Given the description of an element on the screen output the (x, y) to click on. 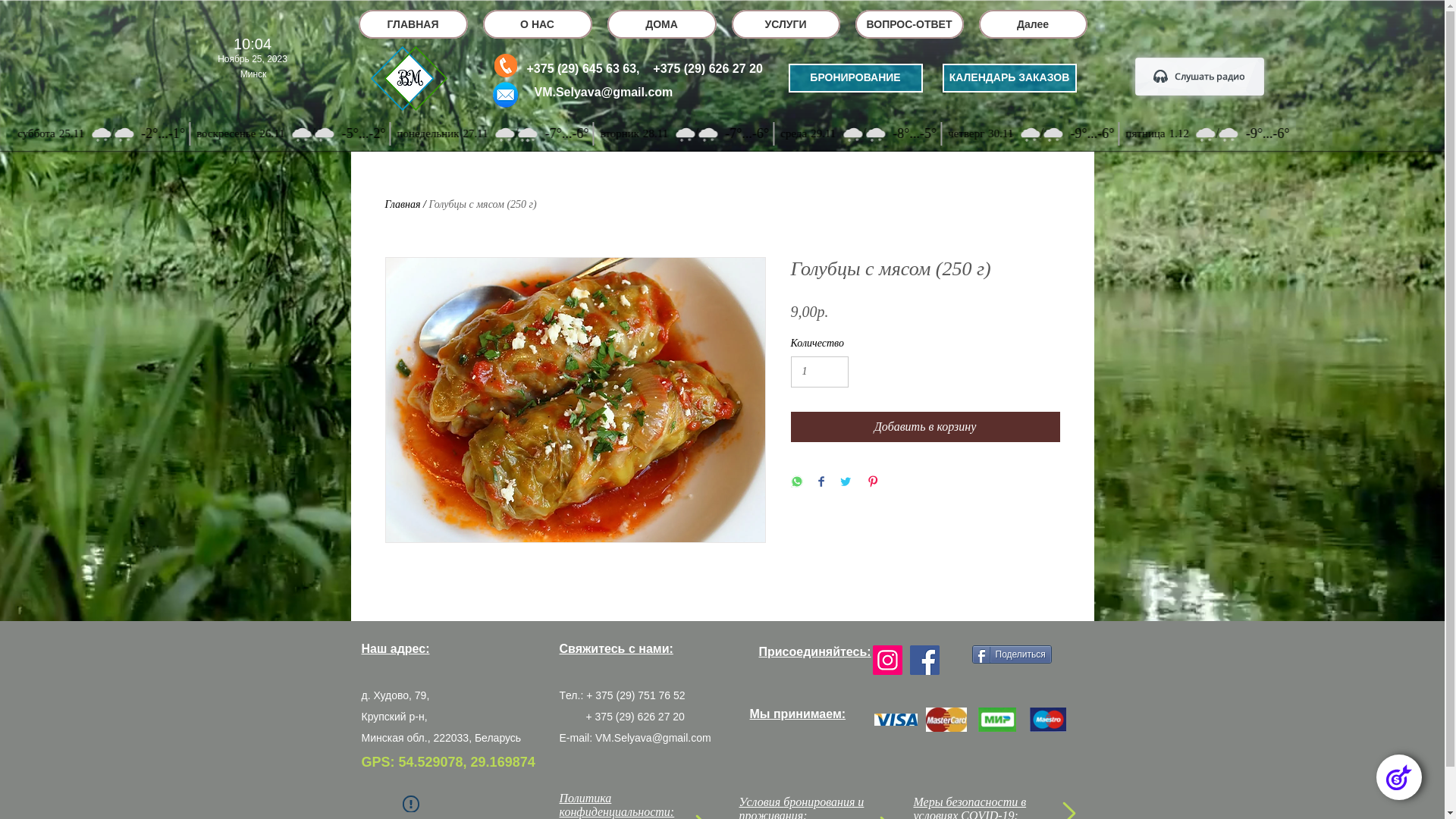
Embedded Content Element type: hover (1200, 77)
Embedded Content Element type: hover (722, 253)
VM.Selyava@gmail.com Element type: text (653, 737)
VM.Selyava@gmail.com Element type: text (602, 91)
Embedded Content Element type: hover (248, 60)
